Given the description of an element on the screen output the (x, y) to click on. 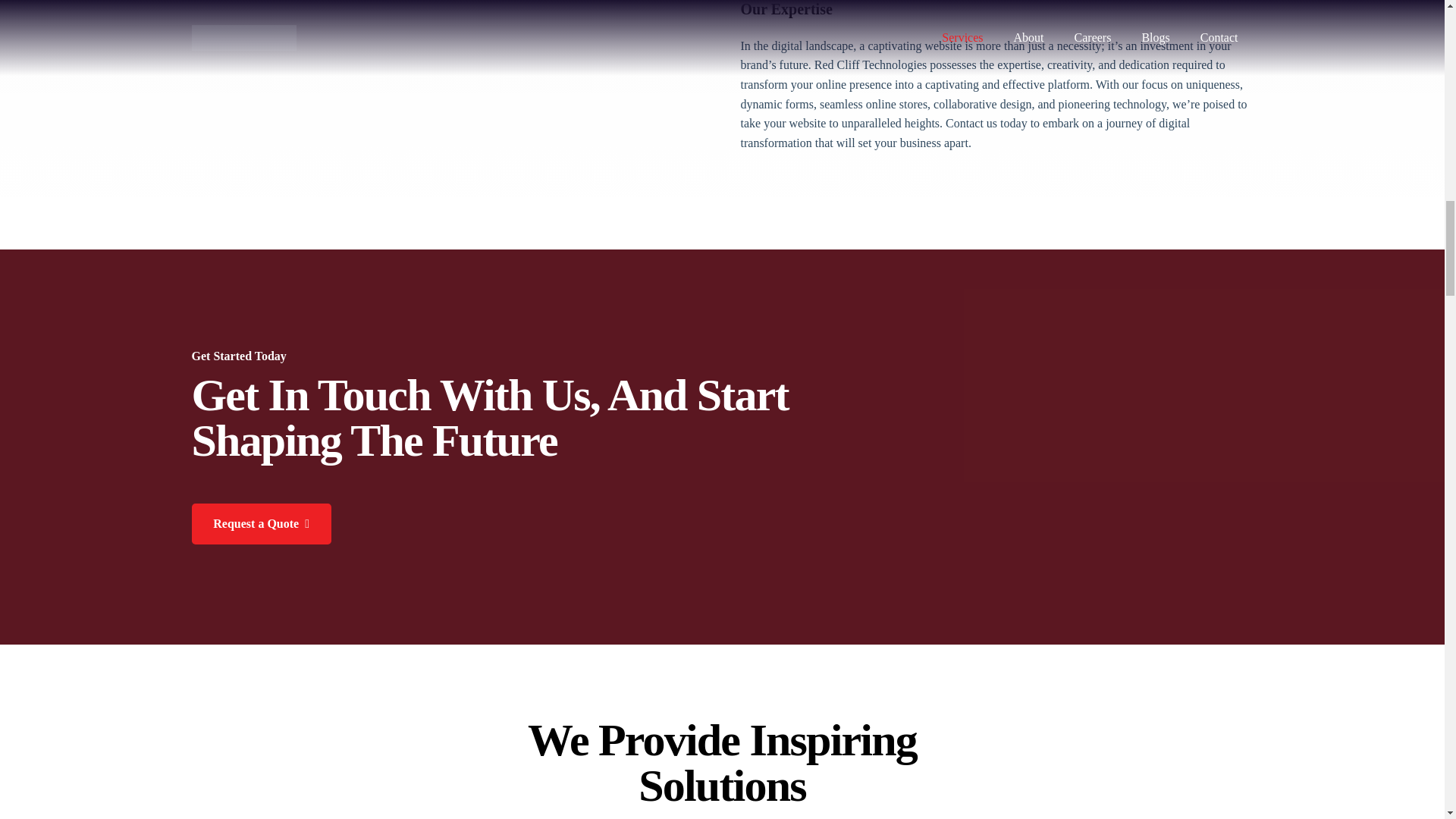
Request a Quote (260, 523)
